Given the description of an element on the screen output the (x, y) to click on. 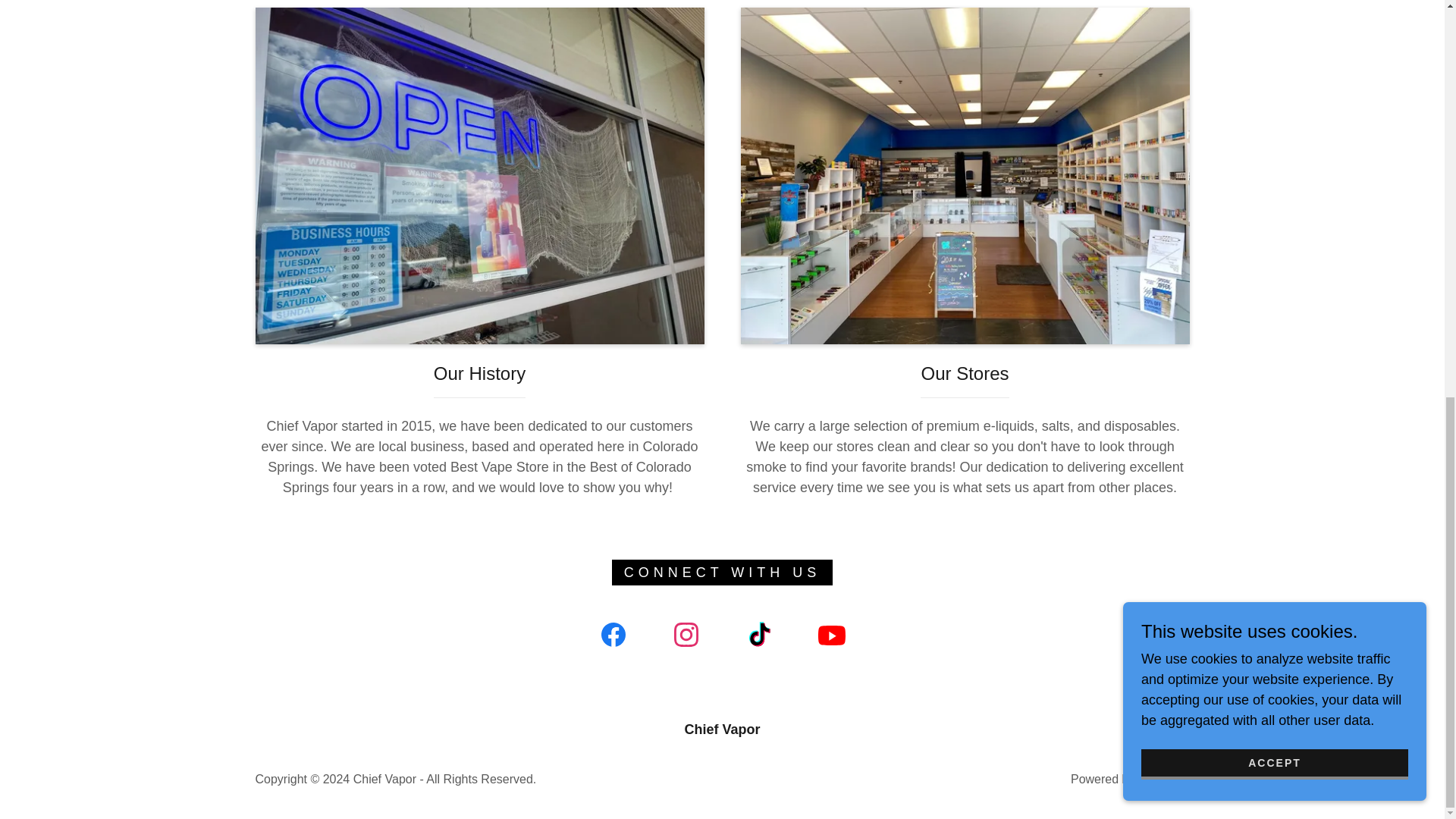
GoDaddy (1163, 779)
ACCEPT (1274, 4)
